Given the description of an element on the screen output the (x, y) to click on. 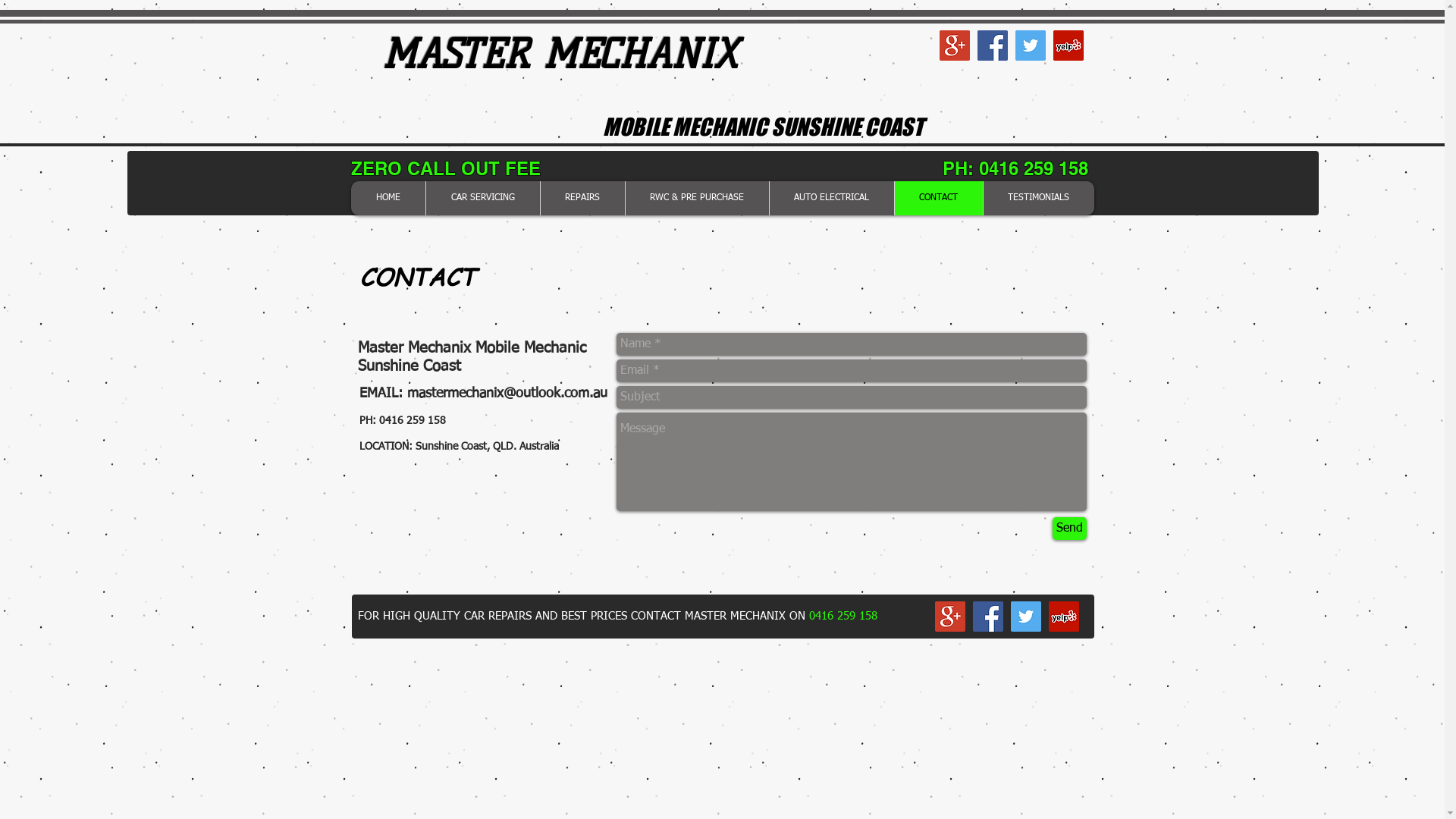
RWC & PRE PURCHASE Element type: text (696, 198)
AUTO ELECTRICAL Element type: text (831, 198)
mastermechanix@outlook.com.au Element type: text (506, 393)
TESTIMONIALS Element type: text (1038, 198)
CAR SERVICING Element type: text (481, 198)
CONTACT Element type: text (937, 198)
HOME Element type: text (387, 198)
Send Element type: text (1069, 528)
REPAIRS Element type: text (581, 198)
